Given the description of an element on the screen output the (x, y) to click on. 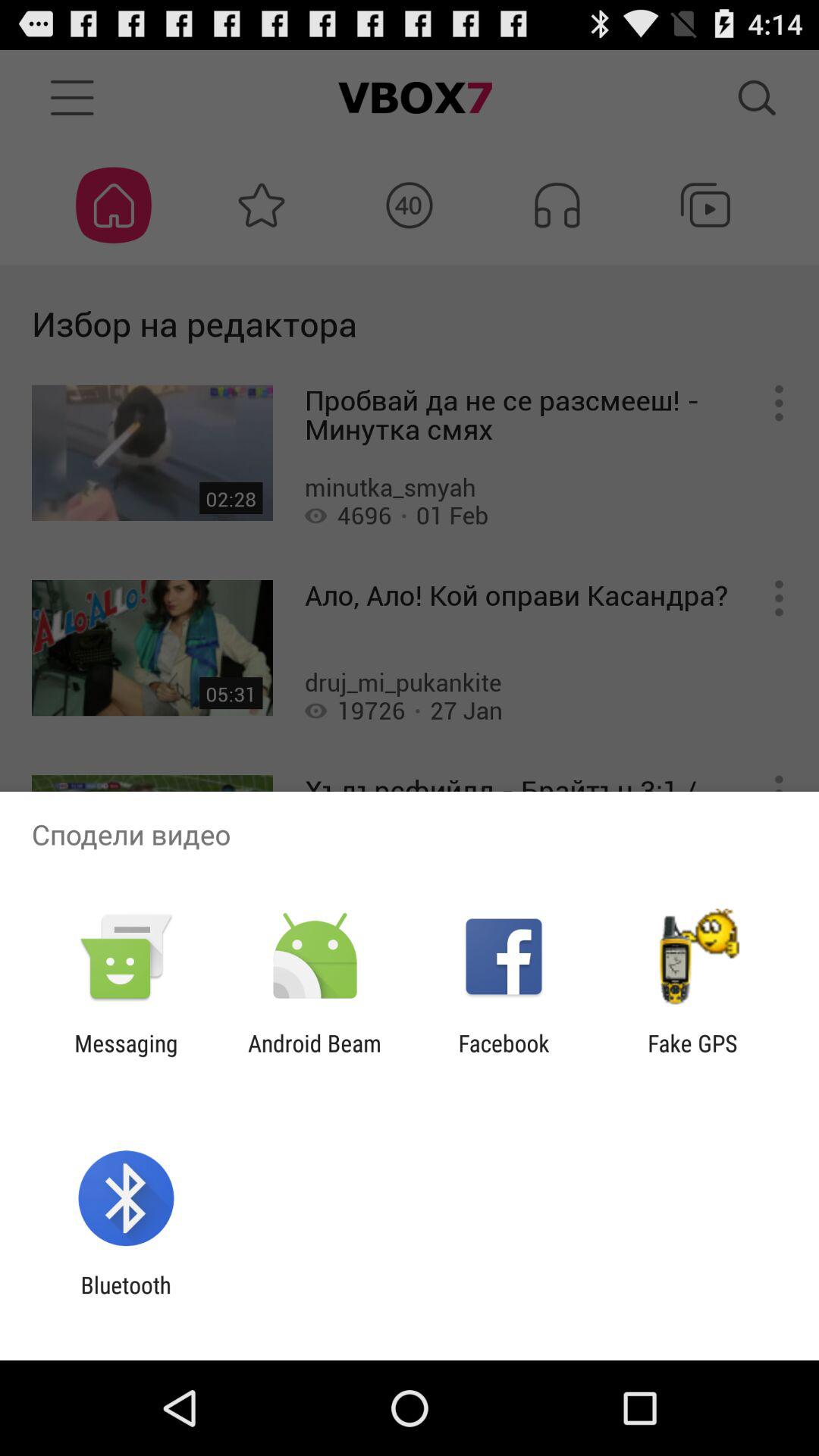
jump until the android beam item (314, 1056)
